Given the description of an element on the screen output the (x, y) to click on. 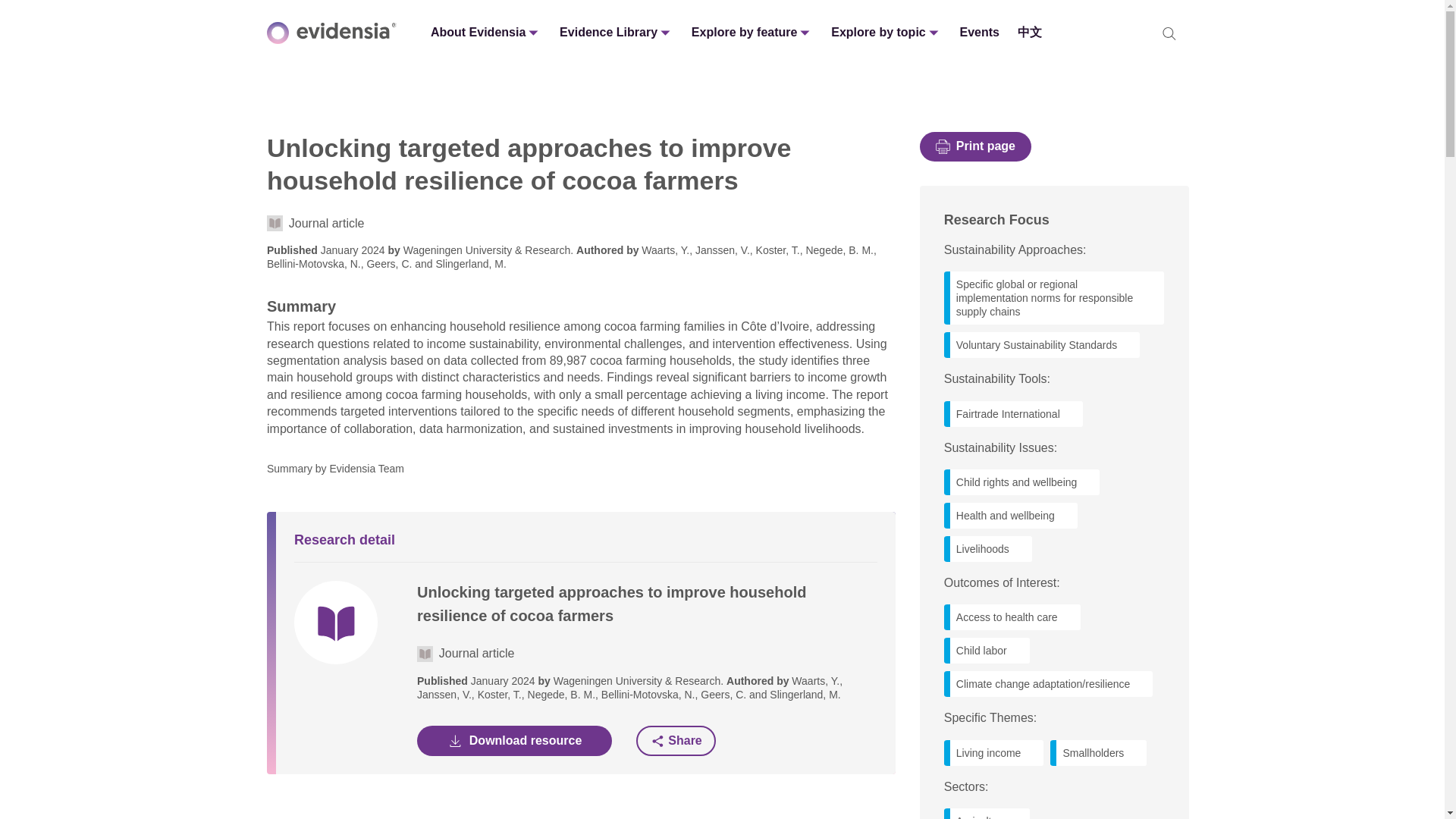
Events (979, 32)
Print page (975, 145)
About Evidensia (486, 32)
Evidence Library (616, 32)
Explore by feature (752, 32)
Explore by topic (886, 32)
